Given the description of an element on the screen output the (x, y) to click on. 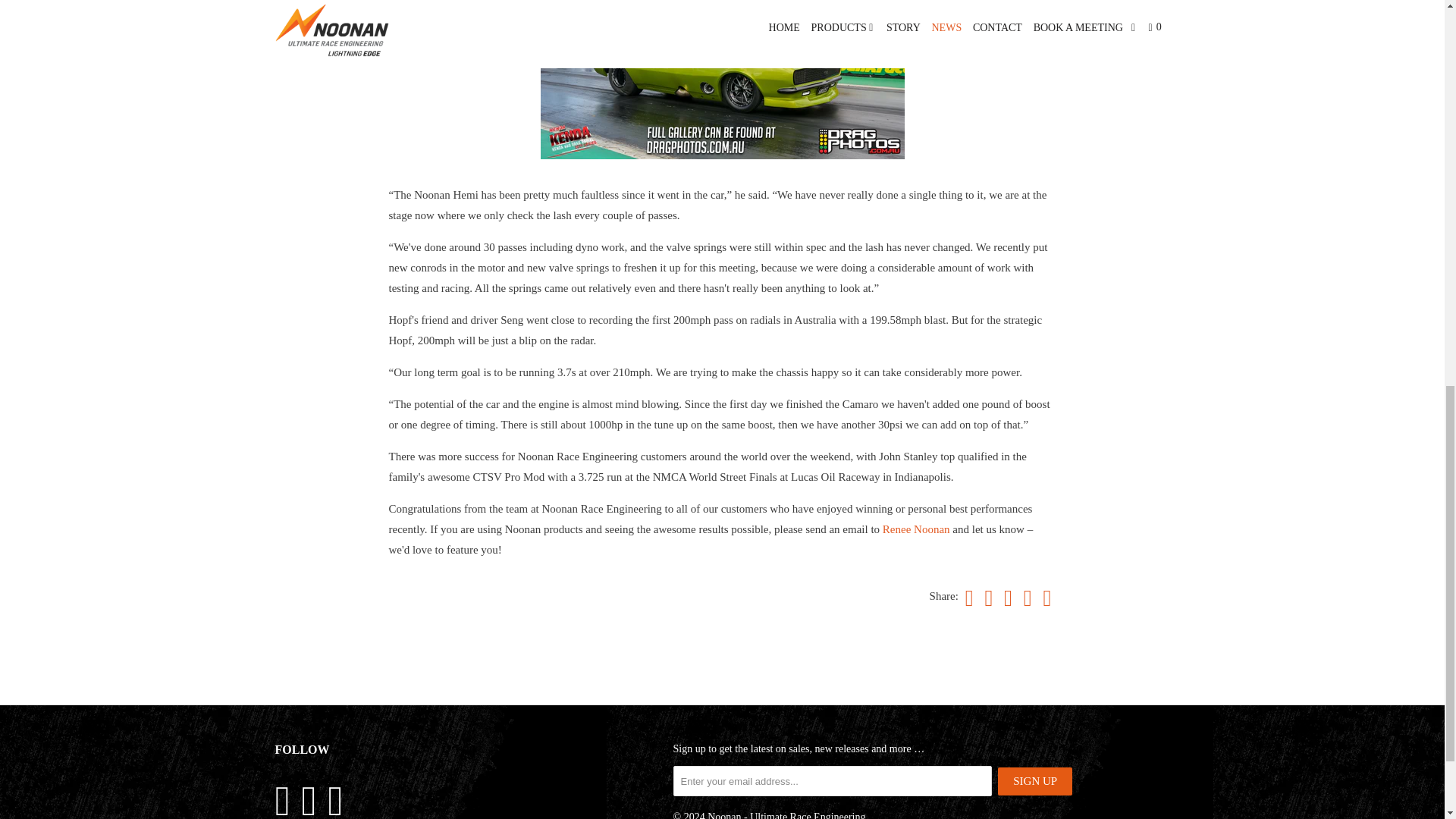
Sign Up (1034, 781)
